Given the description of an element on the screen output the (x, y) to click on. 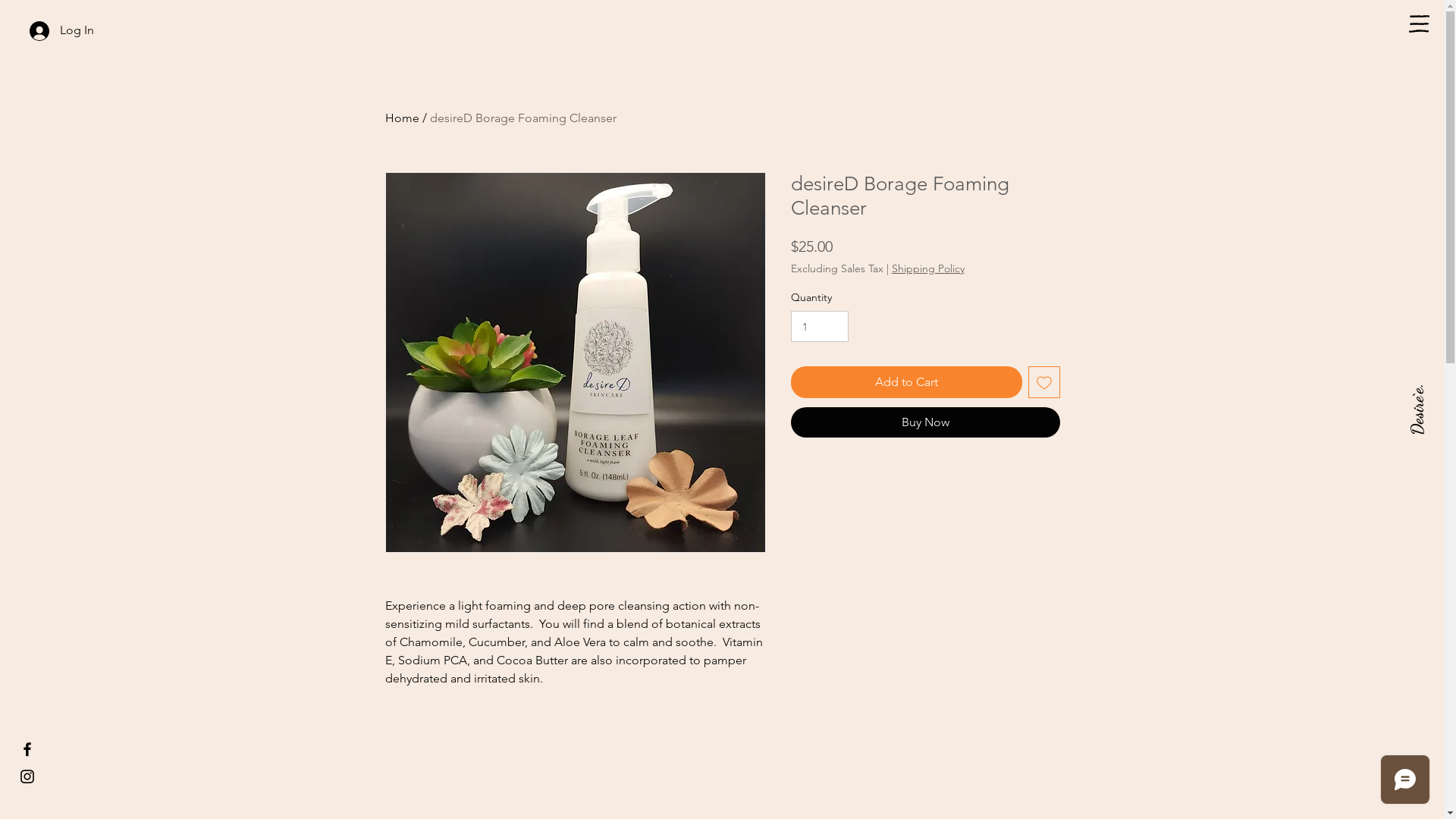
Add to Cart Element type: text (905, 382)
Log In Element type: text (61, 30)
Home Element type: text (402, 117)
Buy Now Element type: text (924, 422)
desireD Borage Foaming Cleanser Element type: text (522, 117)
Shipping Policy Element type: text (927, 268)
